Given the description of an element on the screen output the (x, y) to click on. 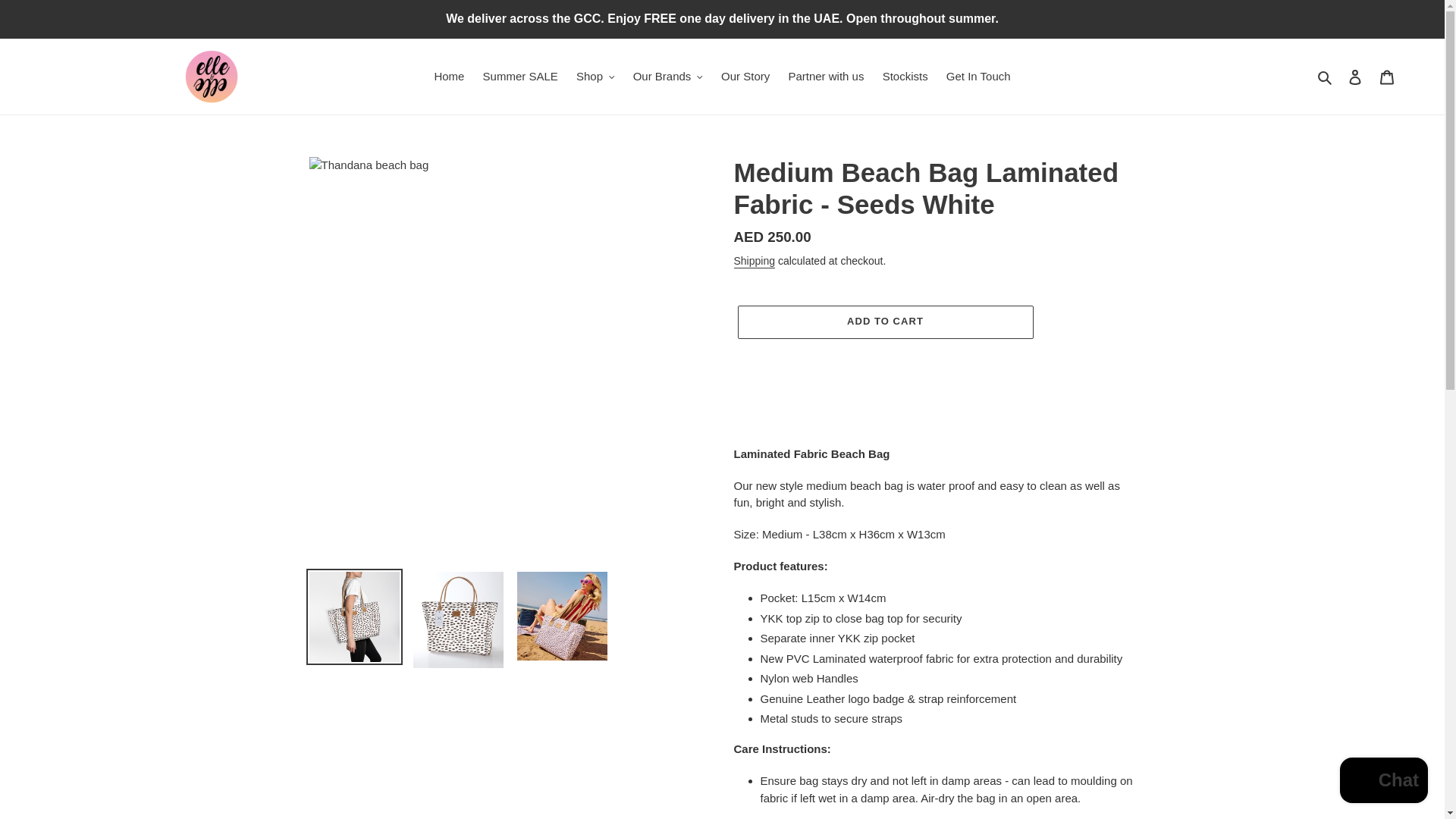
Shopify online store chat (1383, 781)
Stockists (905, 76)
Get In Touch (978, 76)
Log in (1355, 76)
Shop (596, 76)
Partner with us (825, 76)
Cart (1387, 76)
Our Brands (668, 76)
Our Story (745, 76)
